Given the description of an element on the screen output the (x, y) to click on. 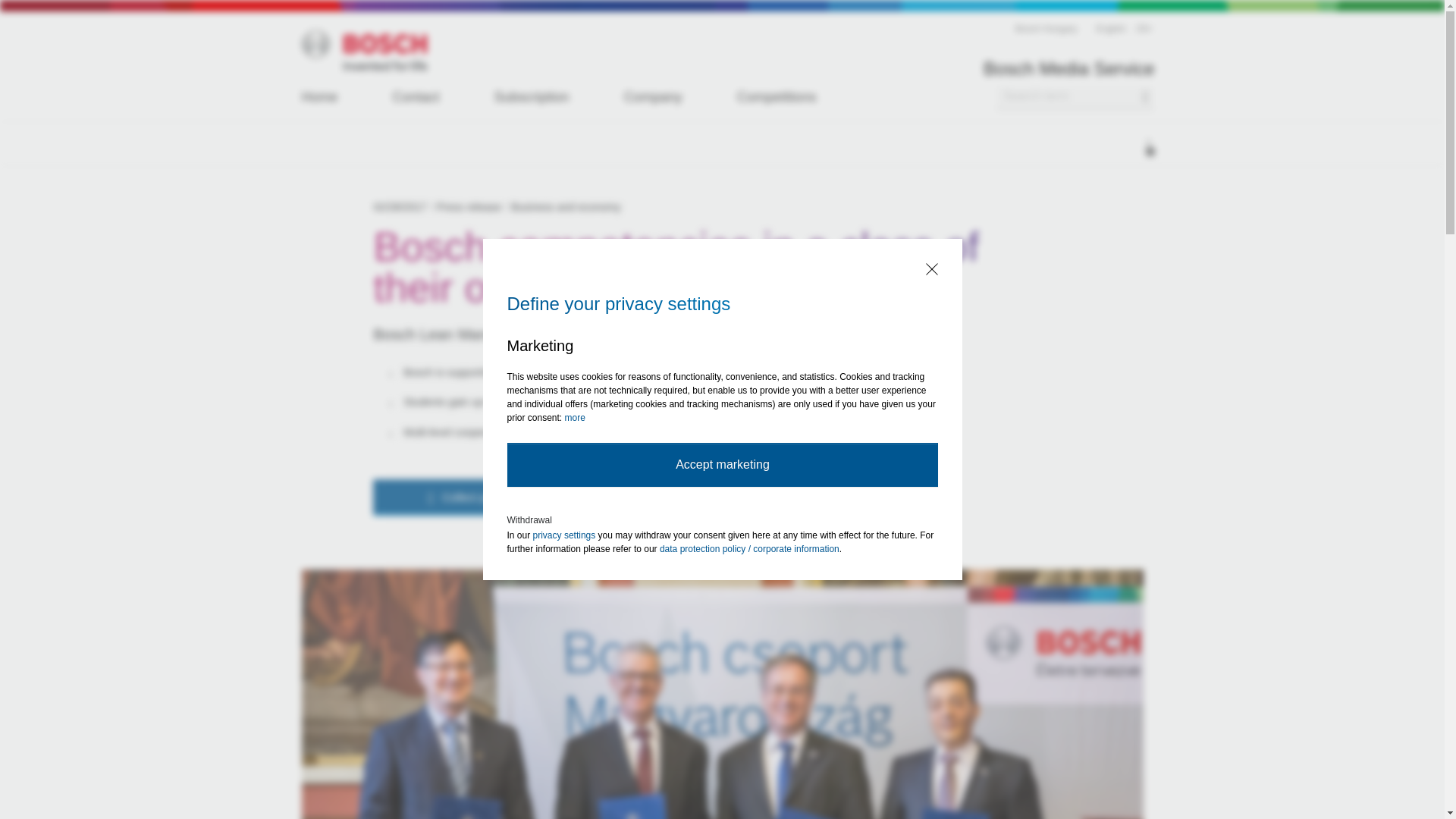
Home (325, 96)
Download press release (740, 497)
more (577, 418)
Accept marketing (724, 464)
0 (1148, 143)
privacy settings (566, 533)
Competitions (776, 96)
Bosch Hungary (1045, 28)
Company (653, 96)
Collect press release (487, 497)
Subscription (531, 96)
Contact (416, 96)
Bosch Media Service (1069, 69)
EnglishEN (1125, 28)
